Given the description of an element on the screen output the (x, y) to click on. 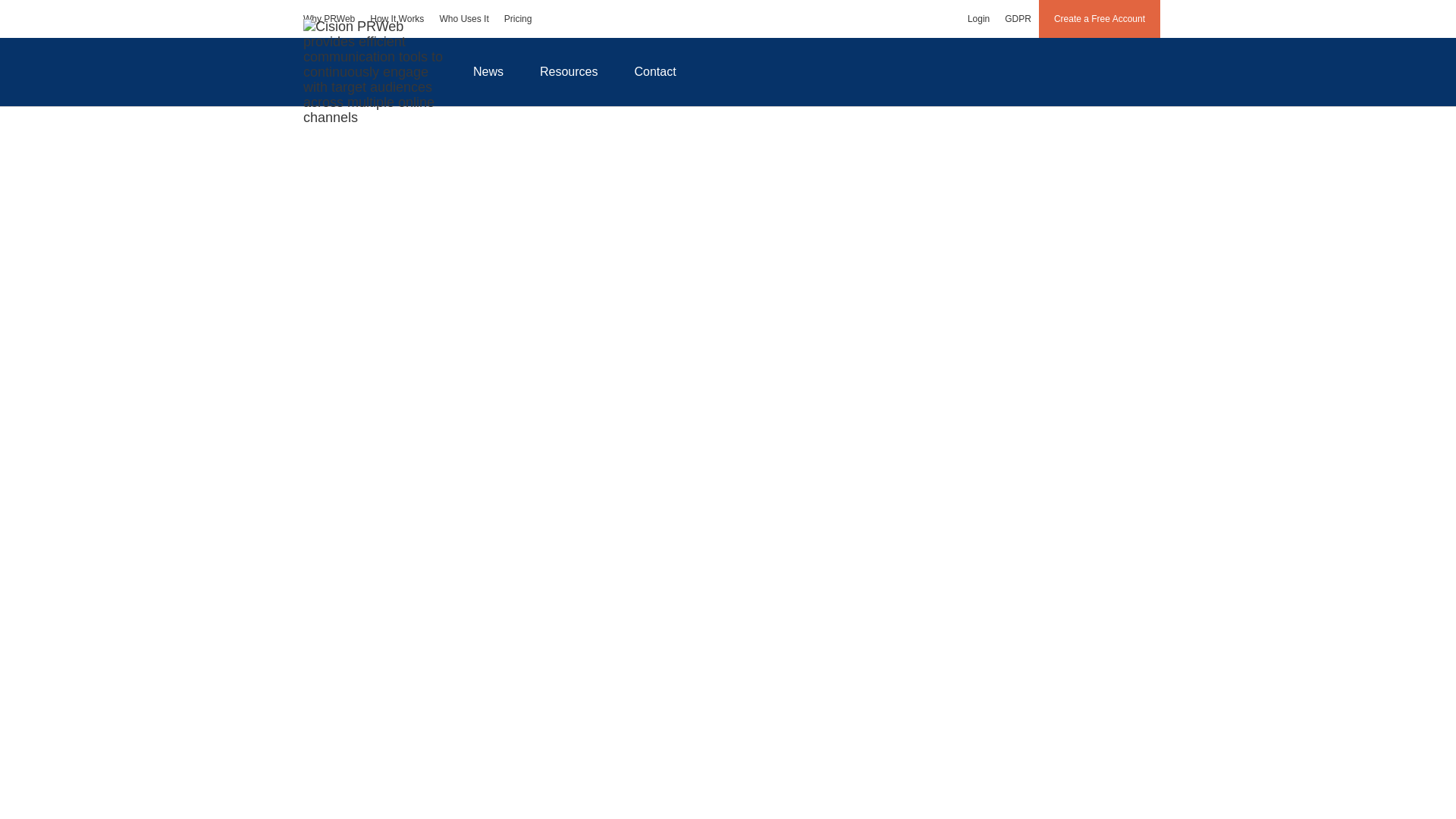
Why PRWeb (328, 18)
Pricing (518, 18)
Resources (568, 71)
Who Uses It (463, 18)
Create a Free Account (1099, 18)
GDPR (1018, 18)
Login (978, 18)
News (487, 71)
Contact (654, 71)
How It Works (396, 18)
